Given the description of an element on the screen output the (x, y) to click on. 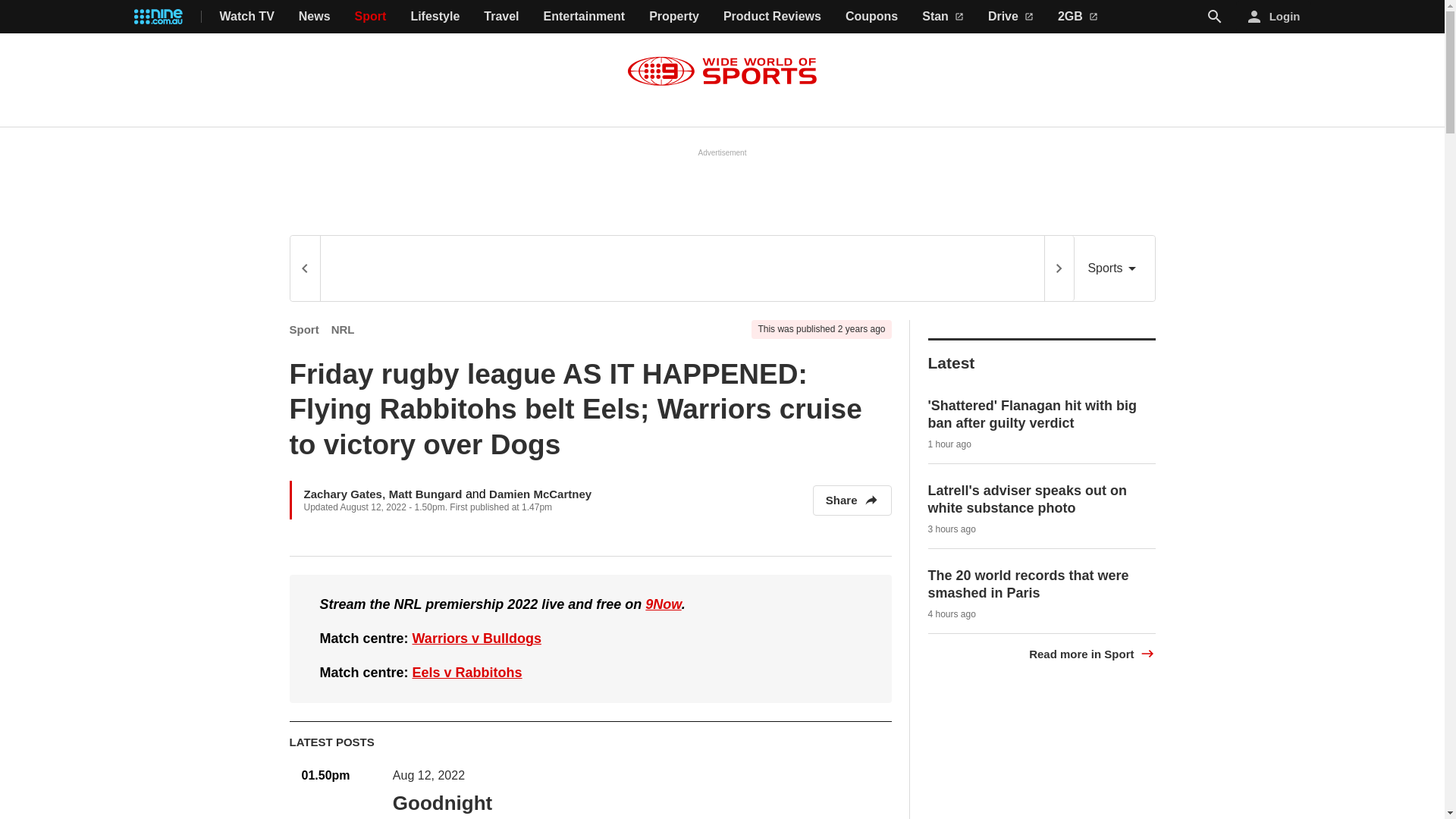
Entertainment (584, 16)
Watch TV (247, 16)
Sport (303, 328)
Share post (537, 817)
9Now (663, 604)
Coupons (871, 16)
Sport (371, 16)
Damien McCartney (540, 493)
Share (851, 500)
Property (673, 16)
